Given the description of an element on the screen output the (x, y) to click on. 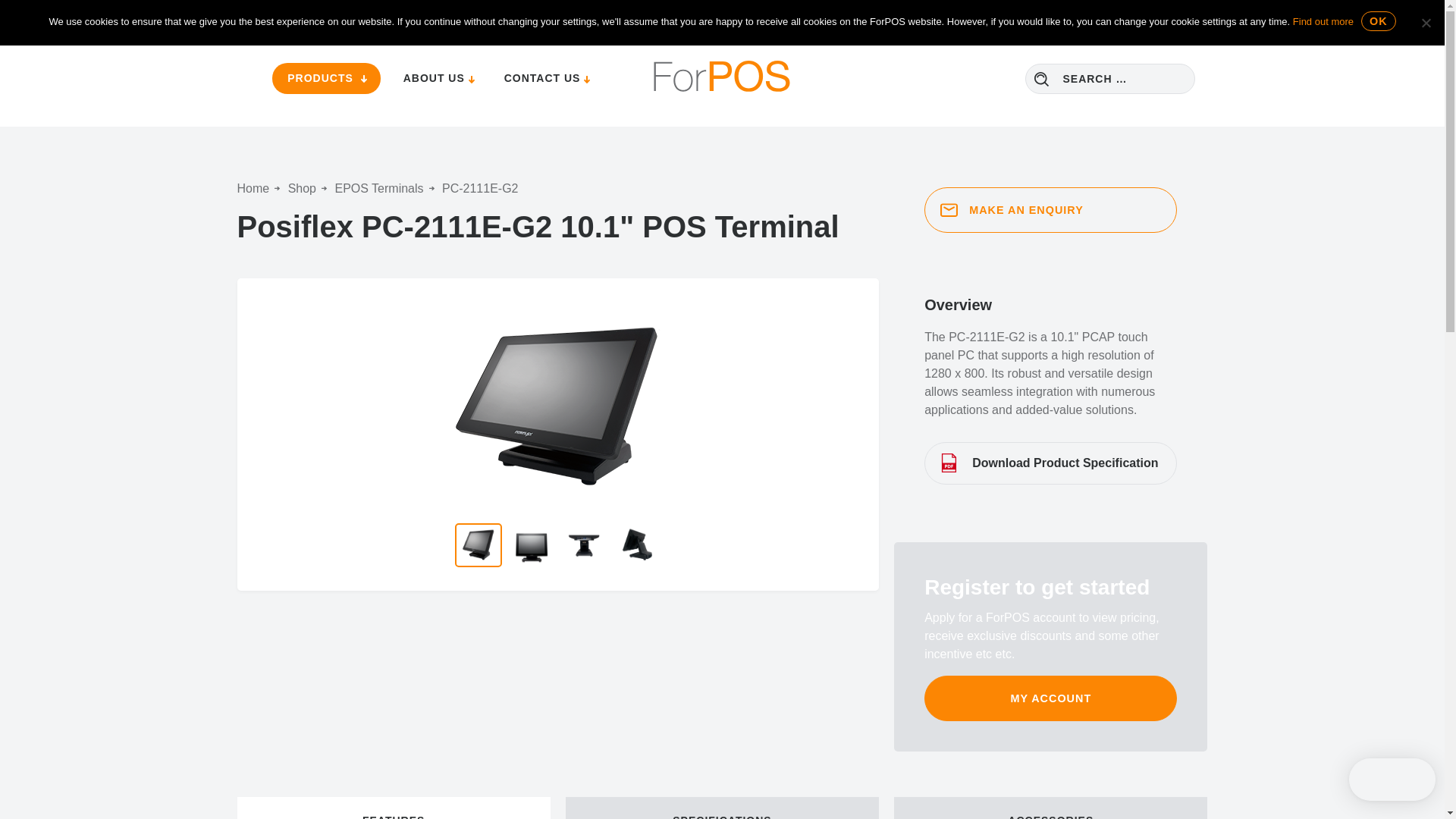
Search (1041, 78)
Search (1041, 78)
PRODUCTS (326, 78)
No (1425, 22)
CONTACT US (545, 78)
Smartsupp widget button (1392, 779)
ABOUT US (437, 78)
Search (1041, 78)
01865 820 925 (482, 14)
